Given the description of an element on the screen output the (x, y) to click on. 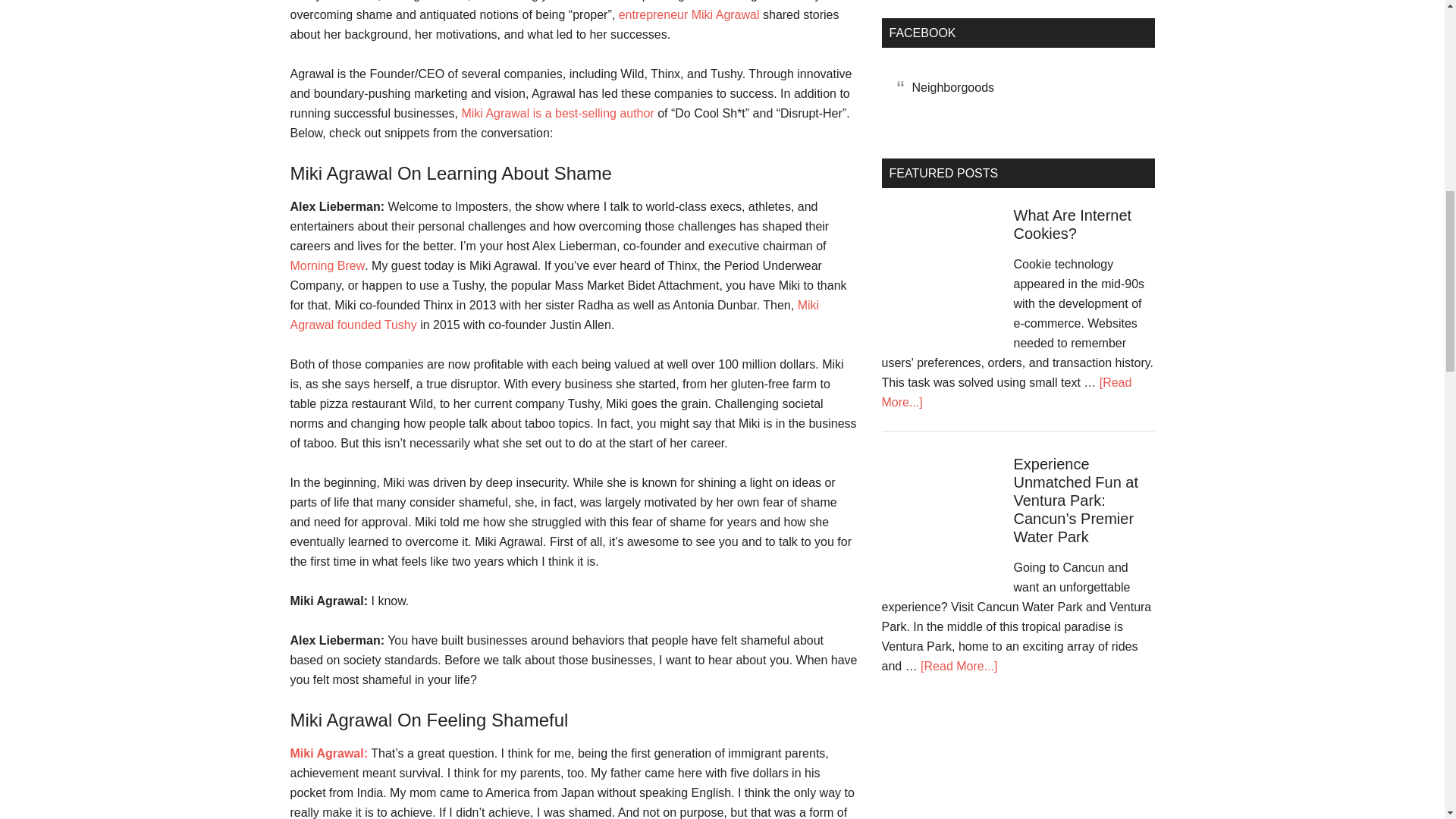
Miki Agrawal founded Tushy (553, 314)
Miki Agrawal: (328, 753)
Morning Brew (327, 265)
Neighborgoods (952, 87)
Miki Agrawal is a best-selling author (557, 113)
entrepreneur Miki Agrawal (689, 14)
